Given the description of an element on the screen output the (x, y) to click on. 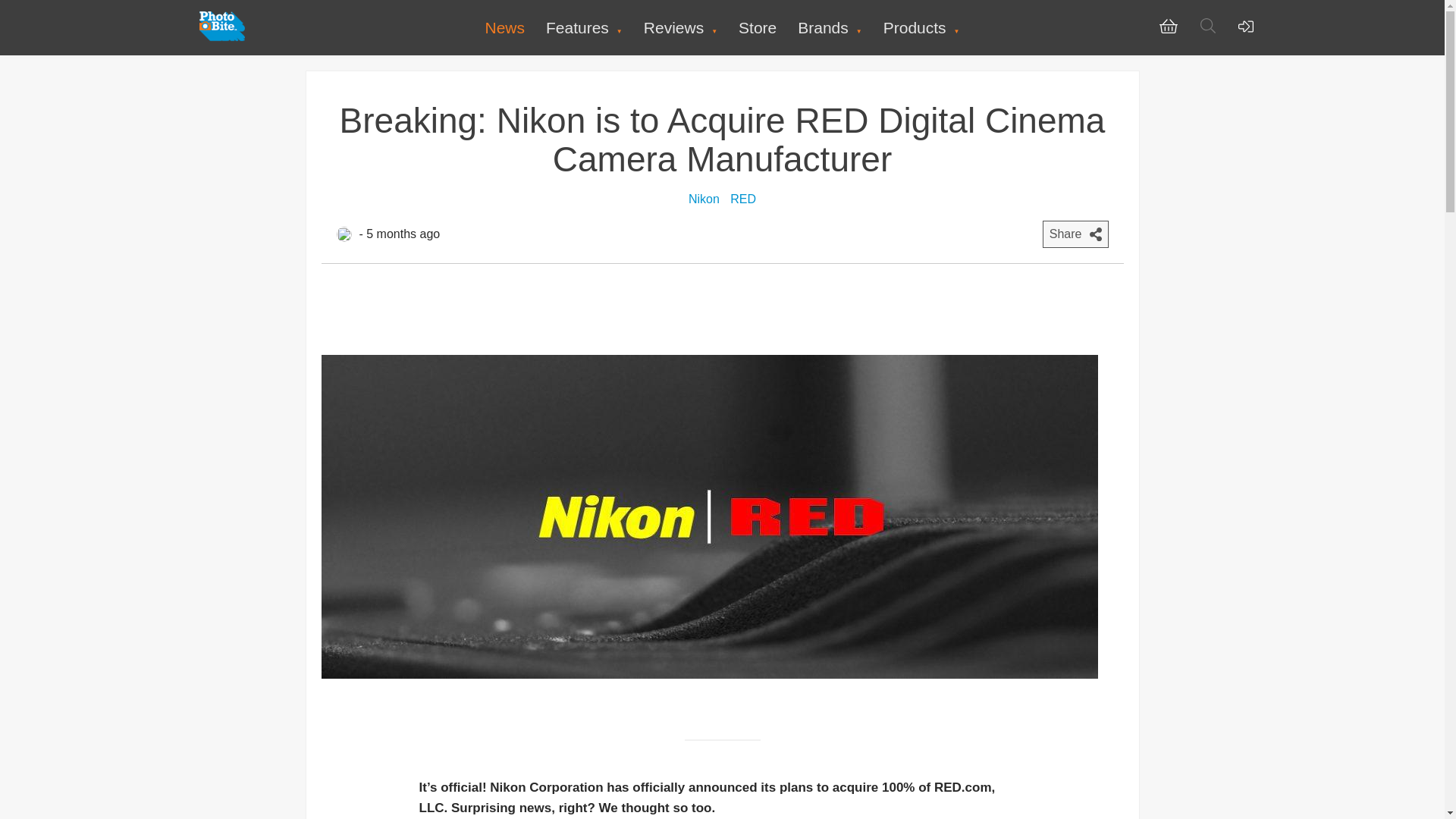
View your shopping cart (1168, 29)
Features (584, 27)
News (504, 27)
Back to PhotoBite home (221, 37)
Store (757, 27)
Reviews (680, 27)
Brands (829, 27)
